Given the description of an element on the screen output the (x, y) to click on. 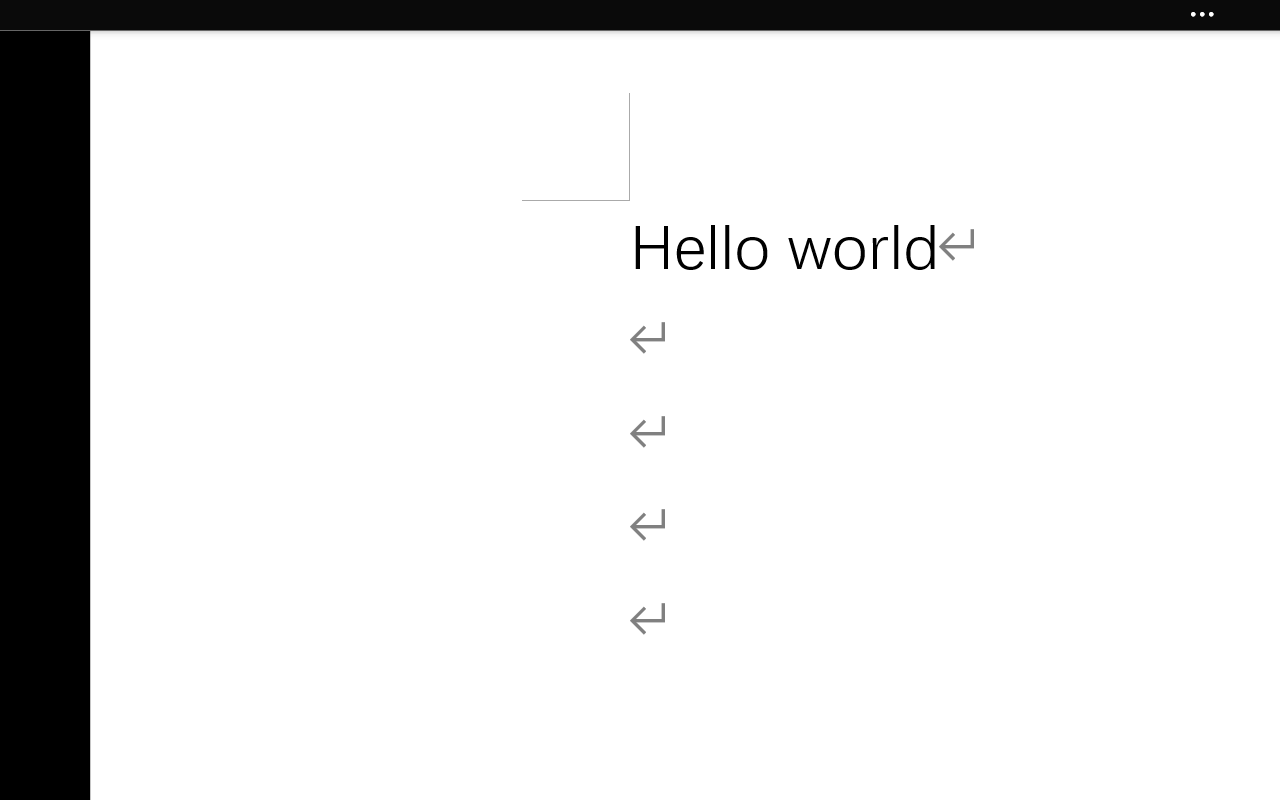
Class: NetUIImage (1202, 15)
